Given the description of an element on the screen output the (x, y) to click on. 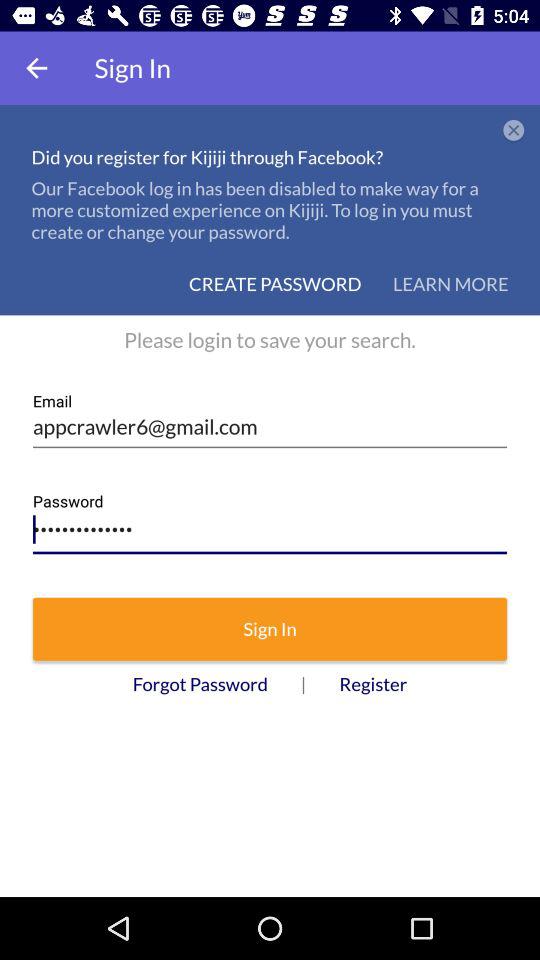
press item next to | icon (199, 683)
